Given the description of an element on the screen output the (x, y) to click on. 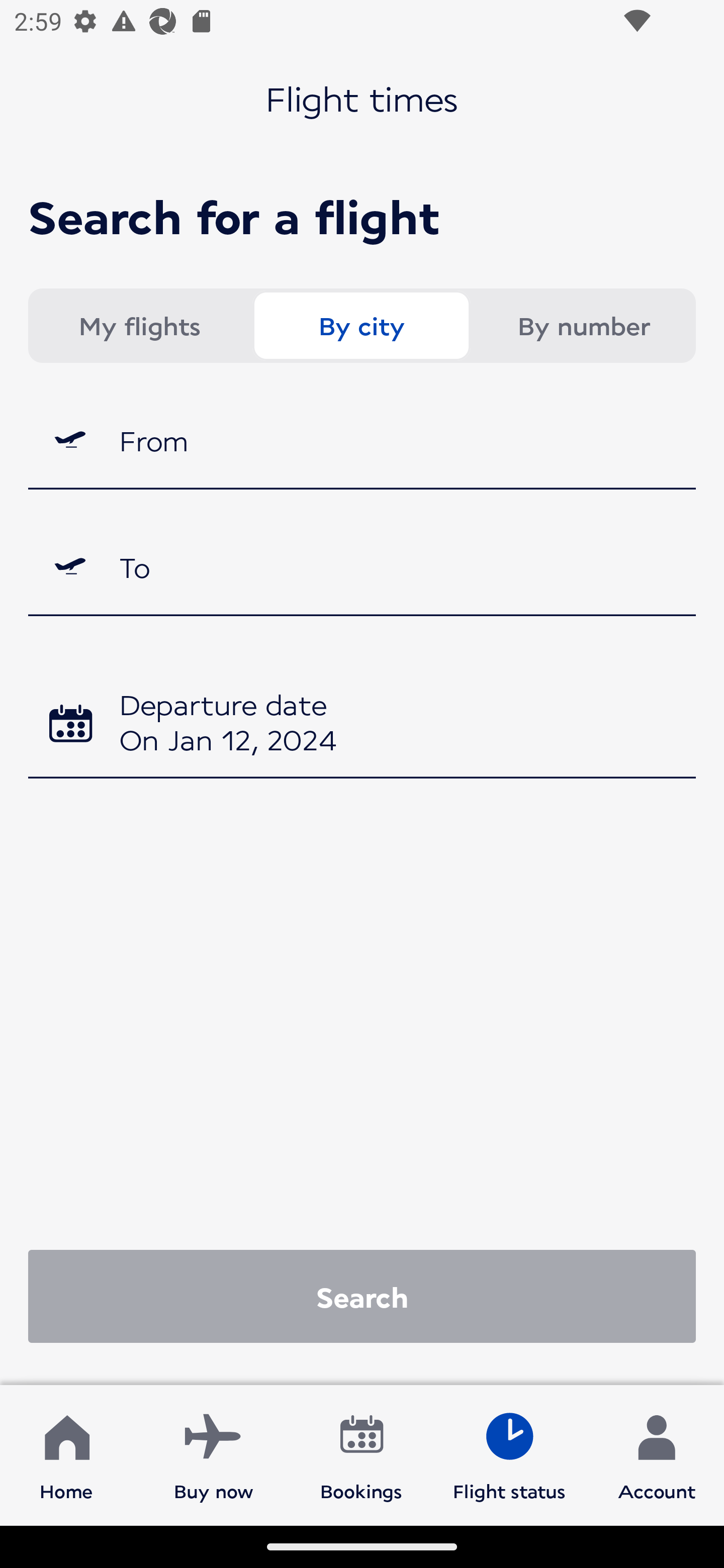
My flights (139, 325)
By city (361, 325)
By number (583, 325)
From (361, 439)
To (361, 566)
On Jan 12, 2024 Departure date (361, 724)
Search (361, 1295)
Home (66, 1454)
Buy now (213, 1454)
Bookings (361, 1454)
Account (657, 1454)
